Given the description of an element on the screen output the (x, y) to click on. 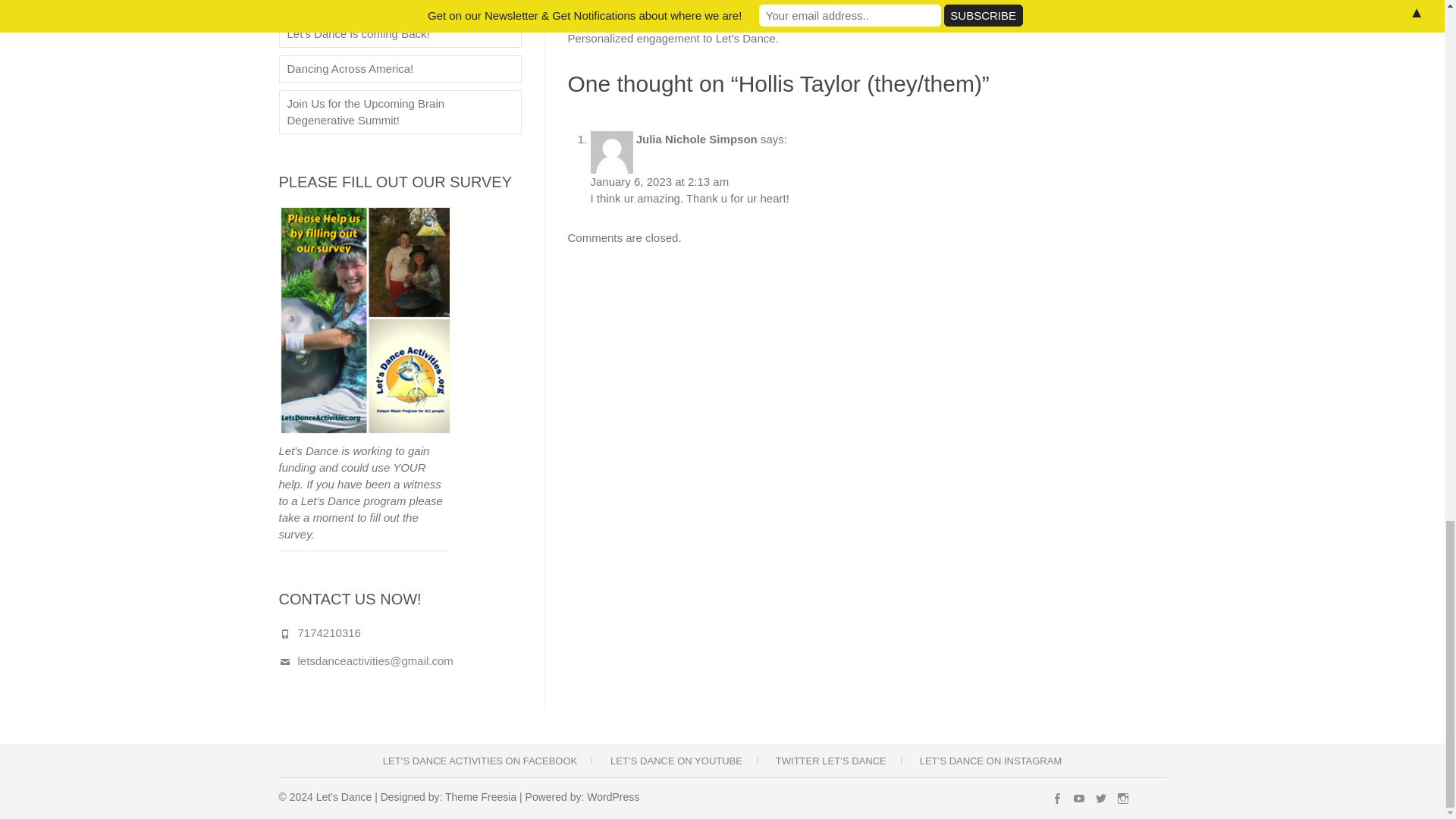
Themefreesia (480, 797)
7174210316 (328, 632)
Let's Dance  (344, 797)
WordPress (612, 797)
